Given the description of an element on the screen output the (x, y) to click on. 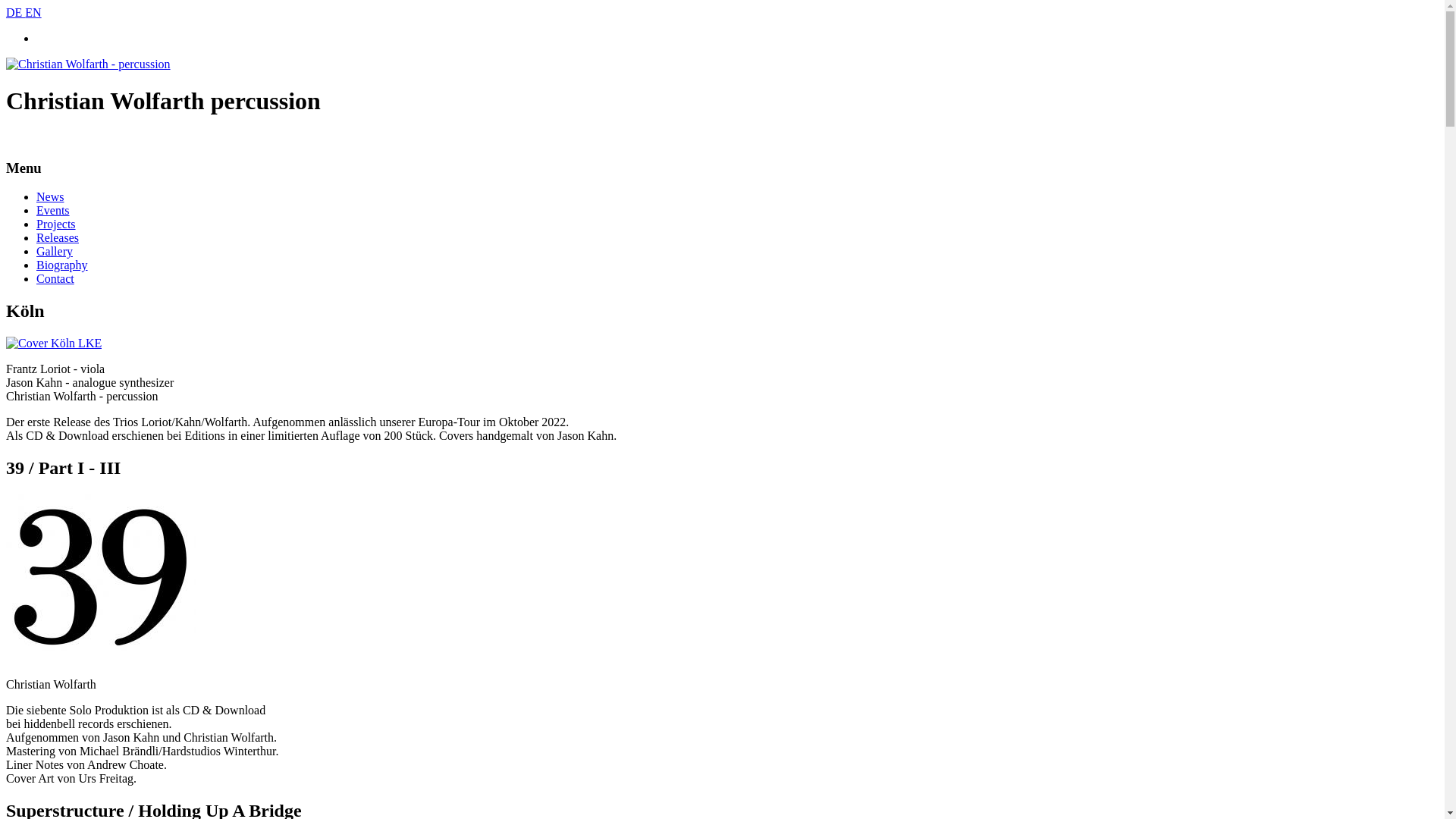
Events Element type: text (52, 209)
Releases Element type: text (57, 237)
News Element type: text (49, 196)
Contact Element type: text (55, 278)
DE Element type: text (15, 12)
Biography Element type: text (61, 264)
EN Element type: text (32, 12)
Projects Element type: text (55, 223)
Gallery Element type: text (54, 250)
